Given the description of an element on the screen output the (x, y) to click on. 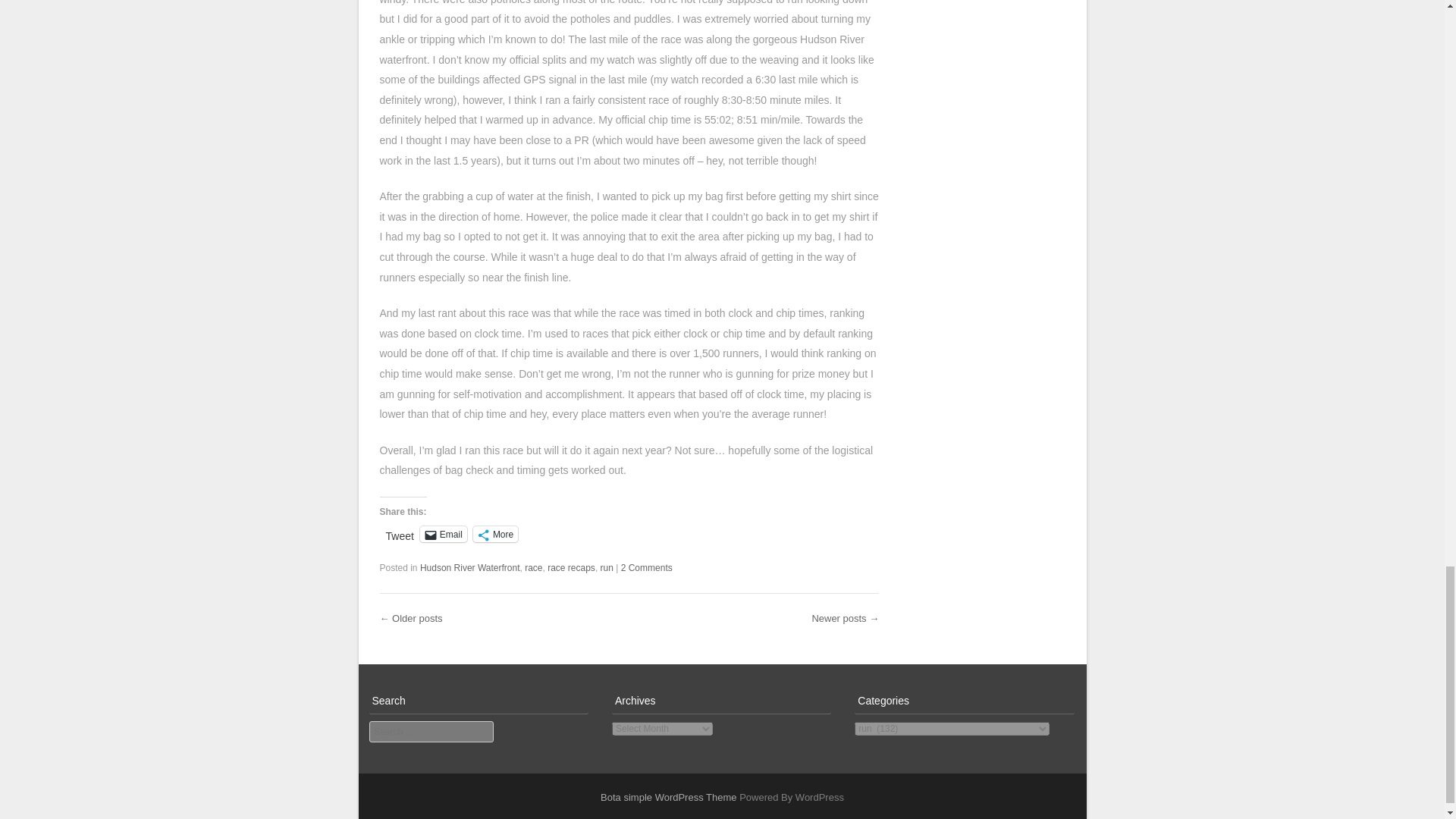
Email (443, 534)
Tweet (399, 532)
Click to email a link to a friend (443, 534)
More (495, 534)
